Given the description of an element on the screen output the (x, y) to click on. 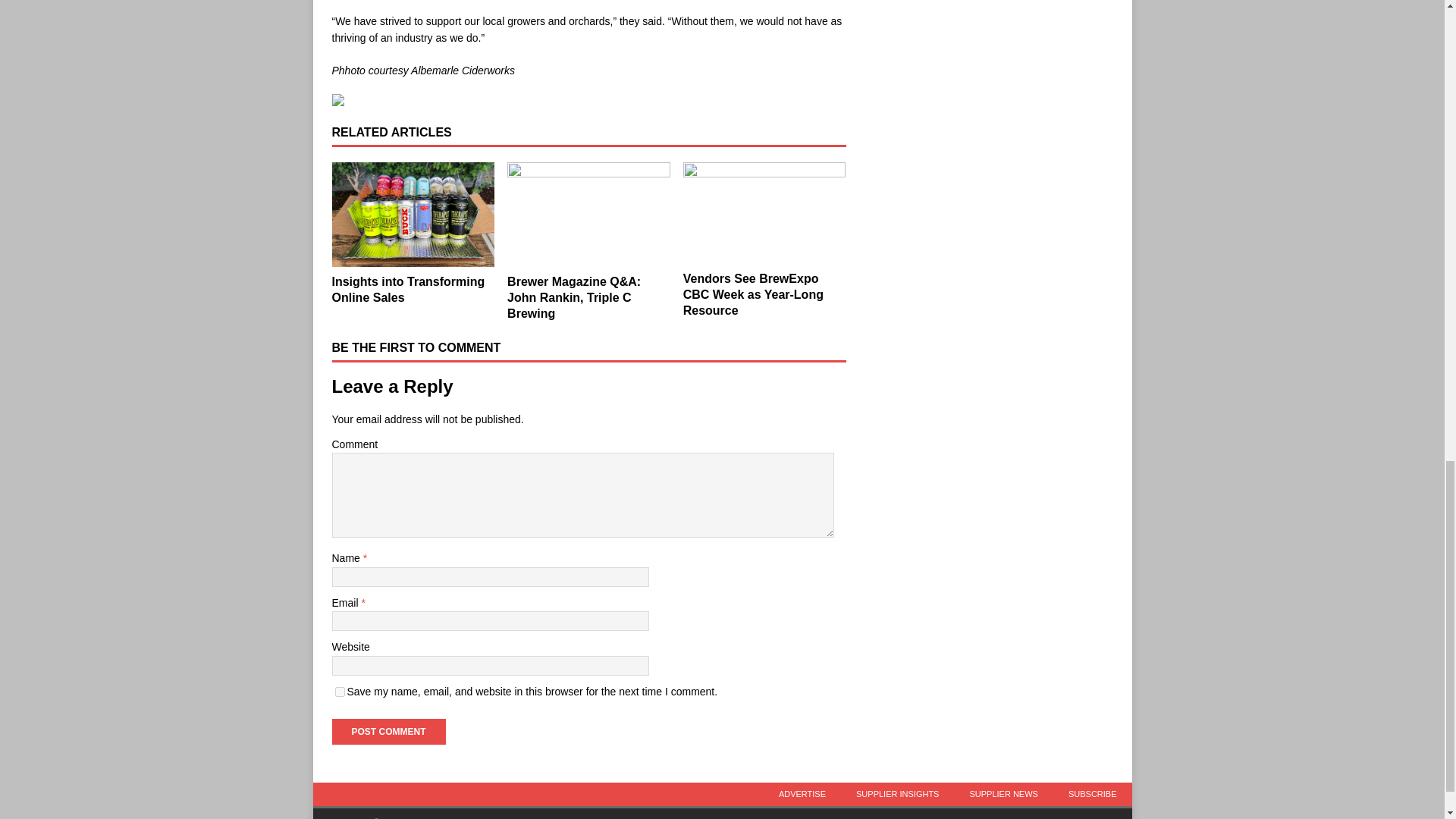
Insights into Transforming Online Sales (413, 214)
Vendors See BrewExpo CBC Week as Year-Long Resource (753, 293)
Vendors See BrewExpo CBC Week as Year-Long Resource (753, 293)
Post Comment (388, 731)
yes (339, 691)
Insights into Transforming Online Sales (407, 289)
Vendors See BrewExpo CBC Week as Year-Long Resource (763, 212)
Insights into Transforming Online Sales (407, 289)
